Given the description of an element on the screen output the (x, y) to click on. 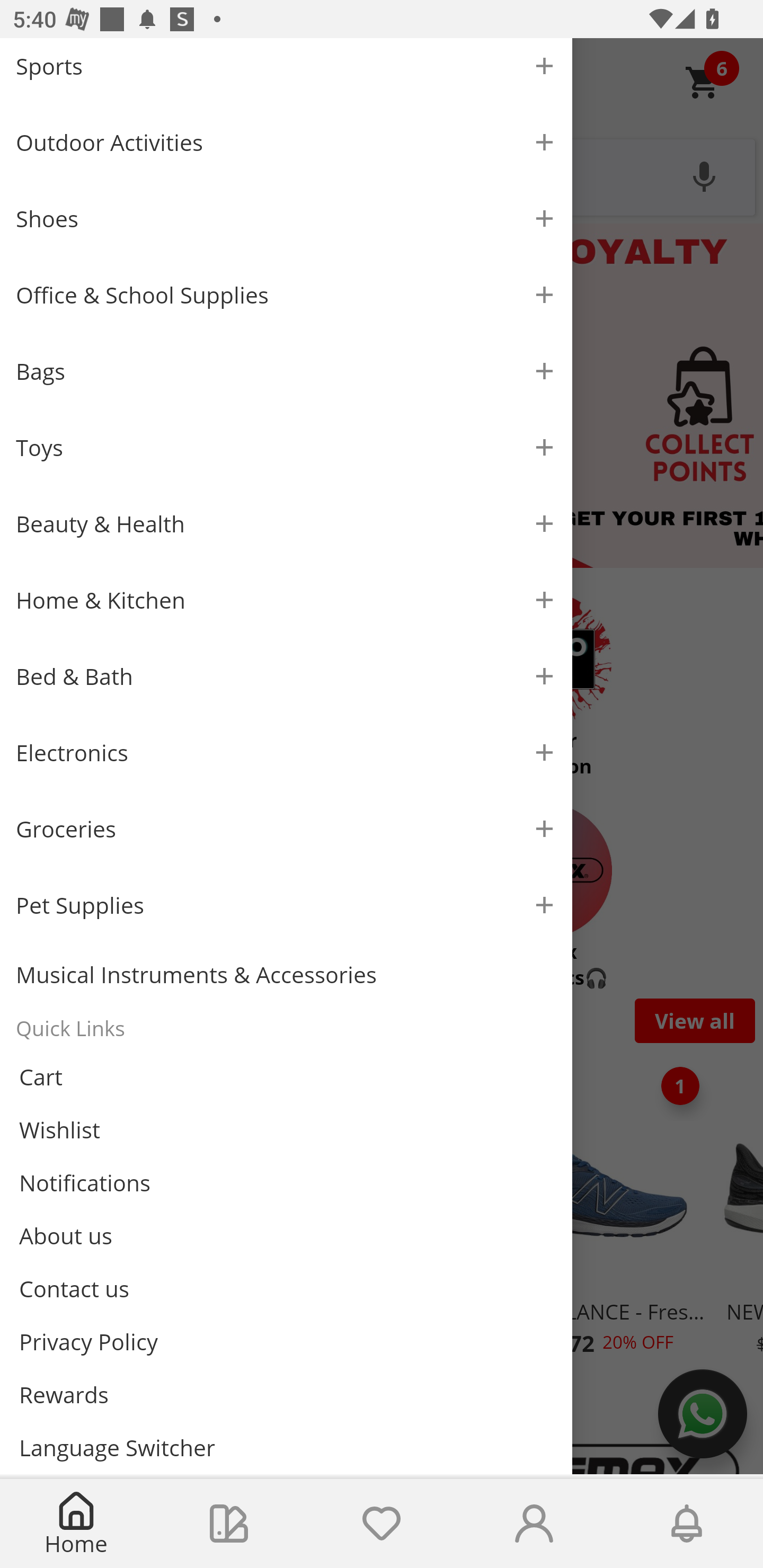
Sports (286, 71)
Outdoor Activities (286, 142)
Shoes (286, 218)
Office & School Supplies (286, 294)
Bags (286, 370)
Toys (286, 447)
Beauty & Health (286, 523)
Home & Kitchen (286, 599)
Bed & Bath (286, 676)
Electronics (286, 752)
Groceries (286, 828)
Pet Supplies (286, 905)
Musical Instruments & Accessories (286, 974)
Cart (286, 1076)
Wishlist (286, 1130)
Notifications (286, 1182)
About us (286, 1235)
Contact us (286, 1288)
Privacy Policy (286, 1341)
Rewards (286, 1394)
Language Switcher (286, 1446)
Collections (228, 1523)
Wishlist (381, 1523)
Account (533, 1523)
Notifications (686, 1523)
